Given the description of an element on the screen output the (x, y) to click on. 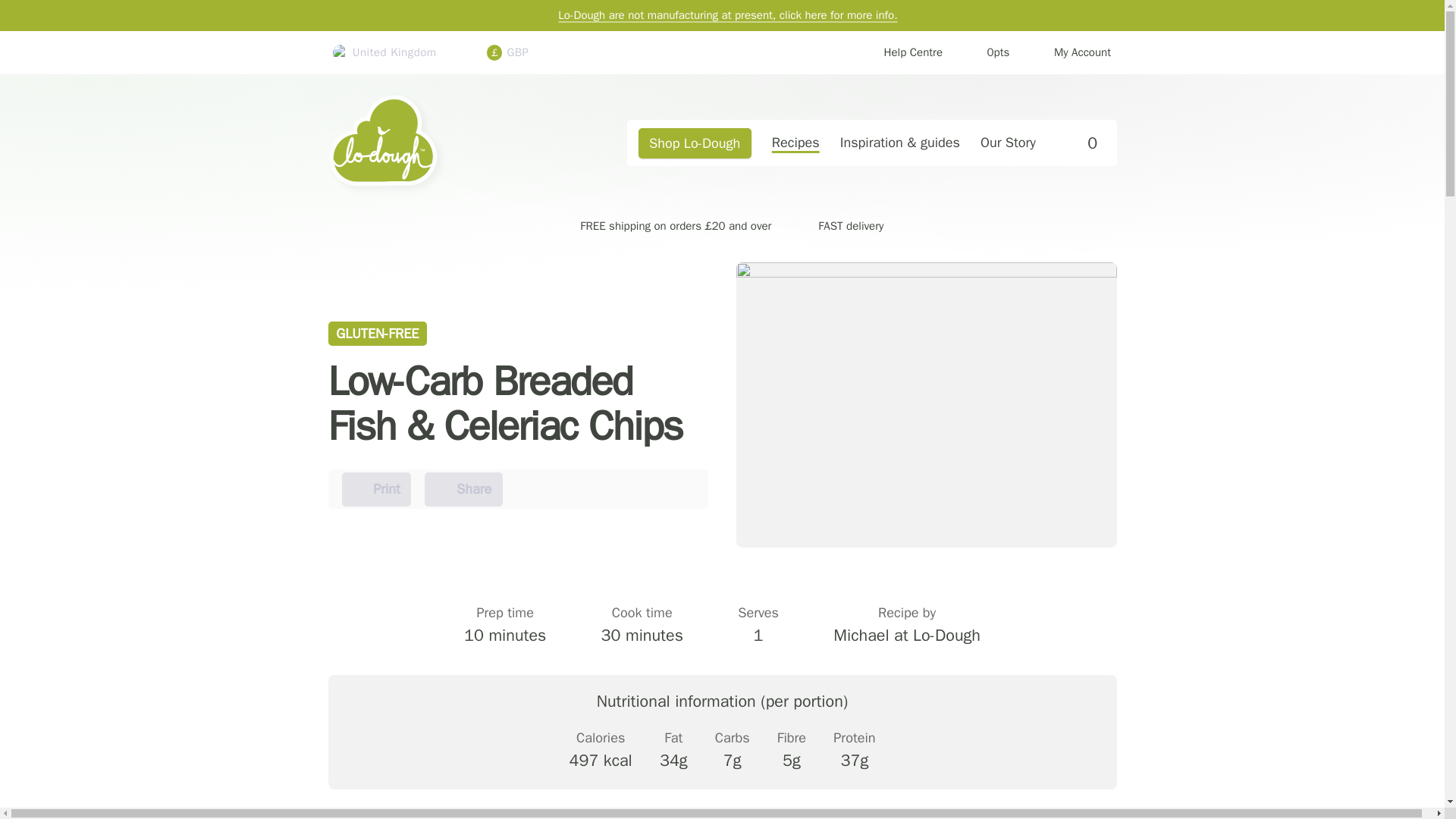
My Account (1071, 53)
Print (377, 489)
Lo-Dough (440, 143)
Our Story (1007, 142)
Shop Lo-Dough (695, 142)
0pts (1078, 143)
Help Centre (986, 53)
Submit (902, 53)
Lo-Dough (463, 489)
Recipes (440, 143)
